Given the description of an element on the screen output the (x, y) to click on. 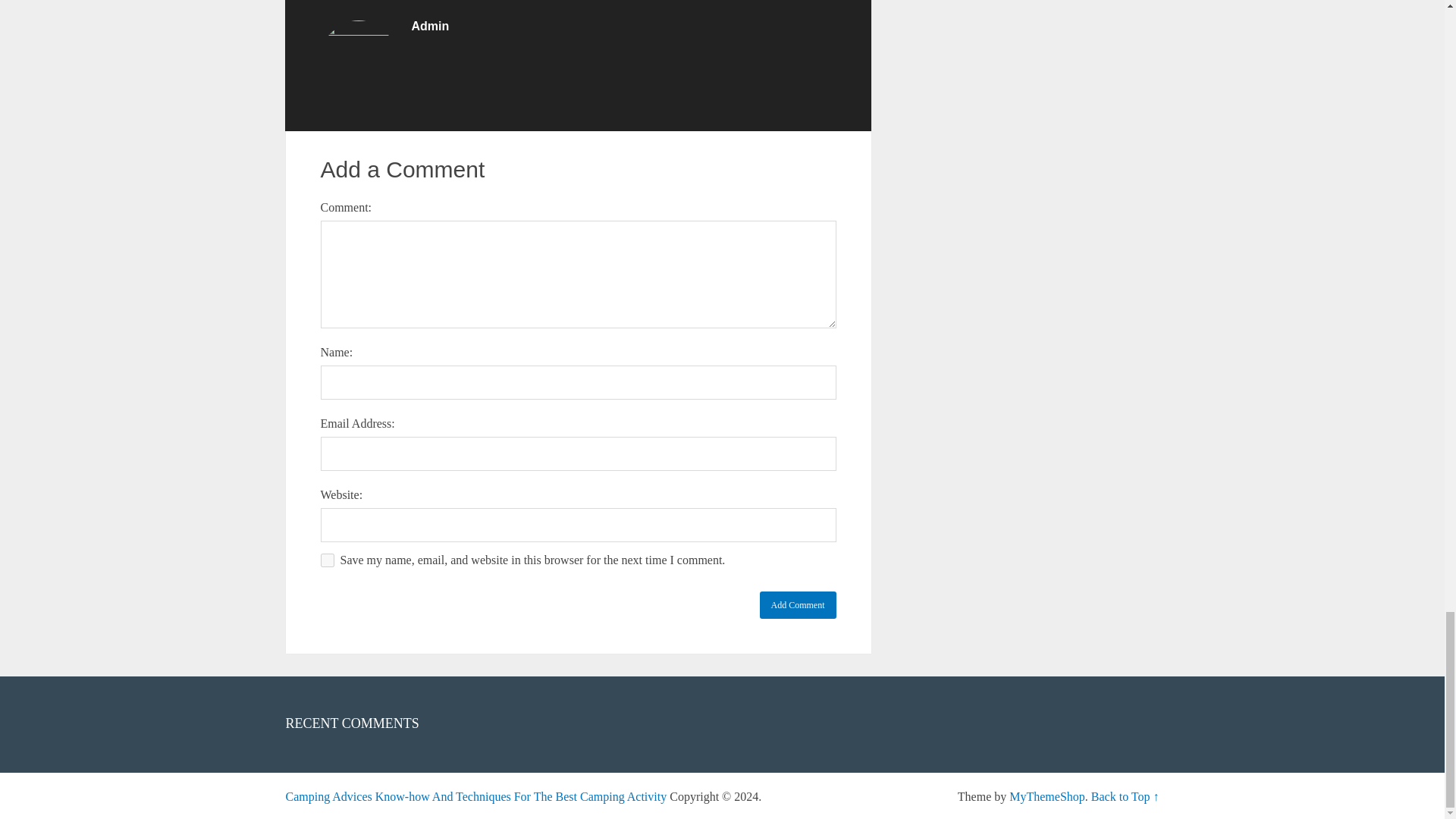
Add Comment (797, 605)
yes (326, 560)
Add Comment (797, 605)
